Given the description of an element on the screen output the (x, y) to click on. 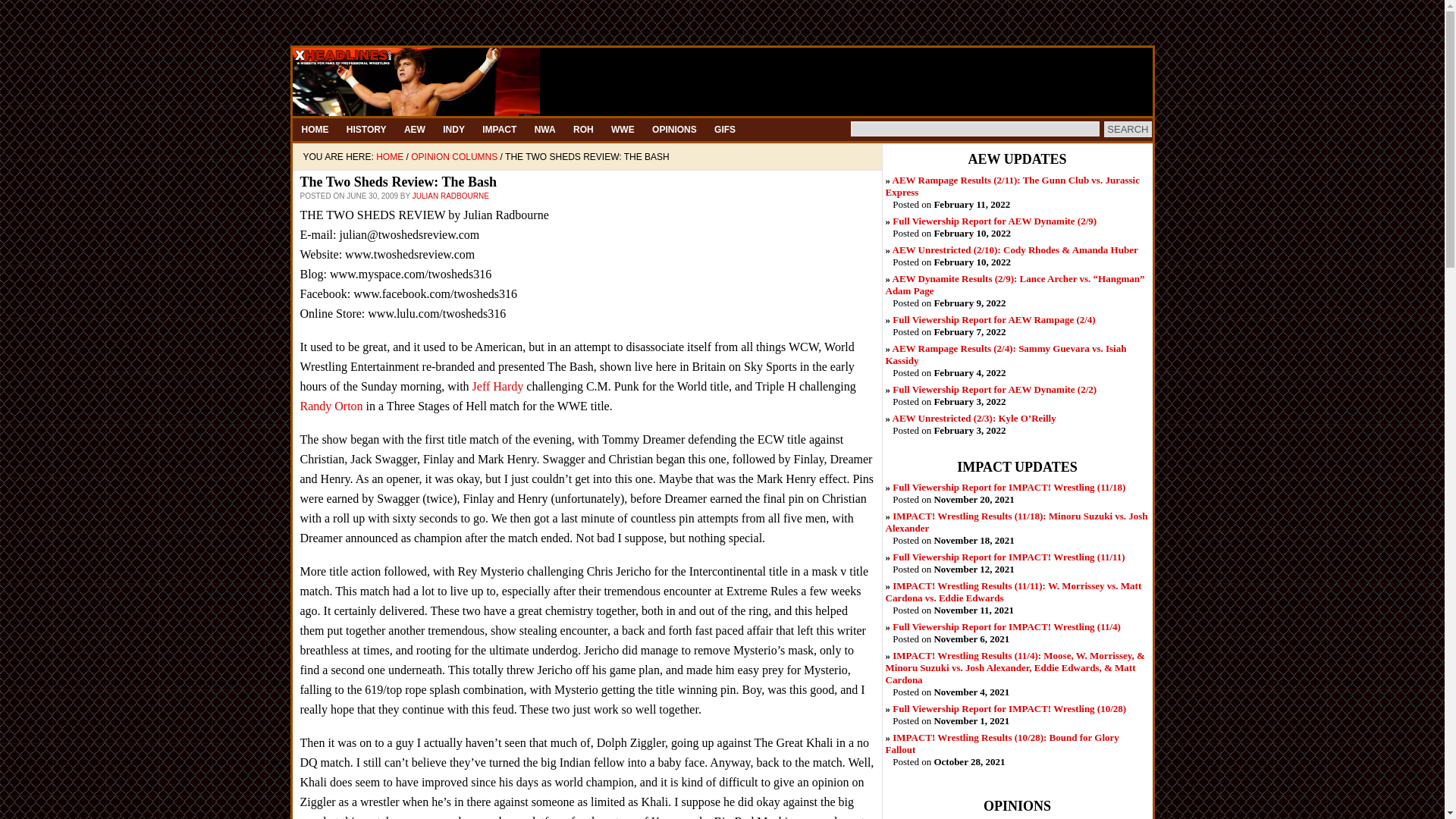
IMPACT (499, 128)
INDY (453, 128)
November 18, 2021 (1016, 521)
February 10, 2022 (1015, 249)
XHEADLINES.COM (722, 81)
GIFS (724, 128)
WWE (622, 128)
February 11, 2022 (1012, 186)
HOME (314, 128)
February 3, 2022 (994, 389)
Search (1127, 129)
November 20, 2021 (1008, 487)
February 9, 2022 (1014, 284)
November 6, 2021 (1006, 626)
